Given the description of an element on the screen output the (x, y) to click on. 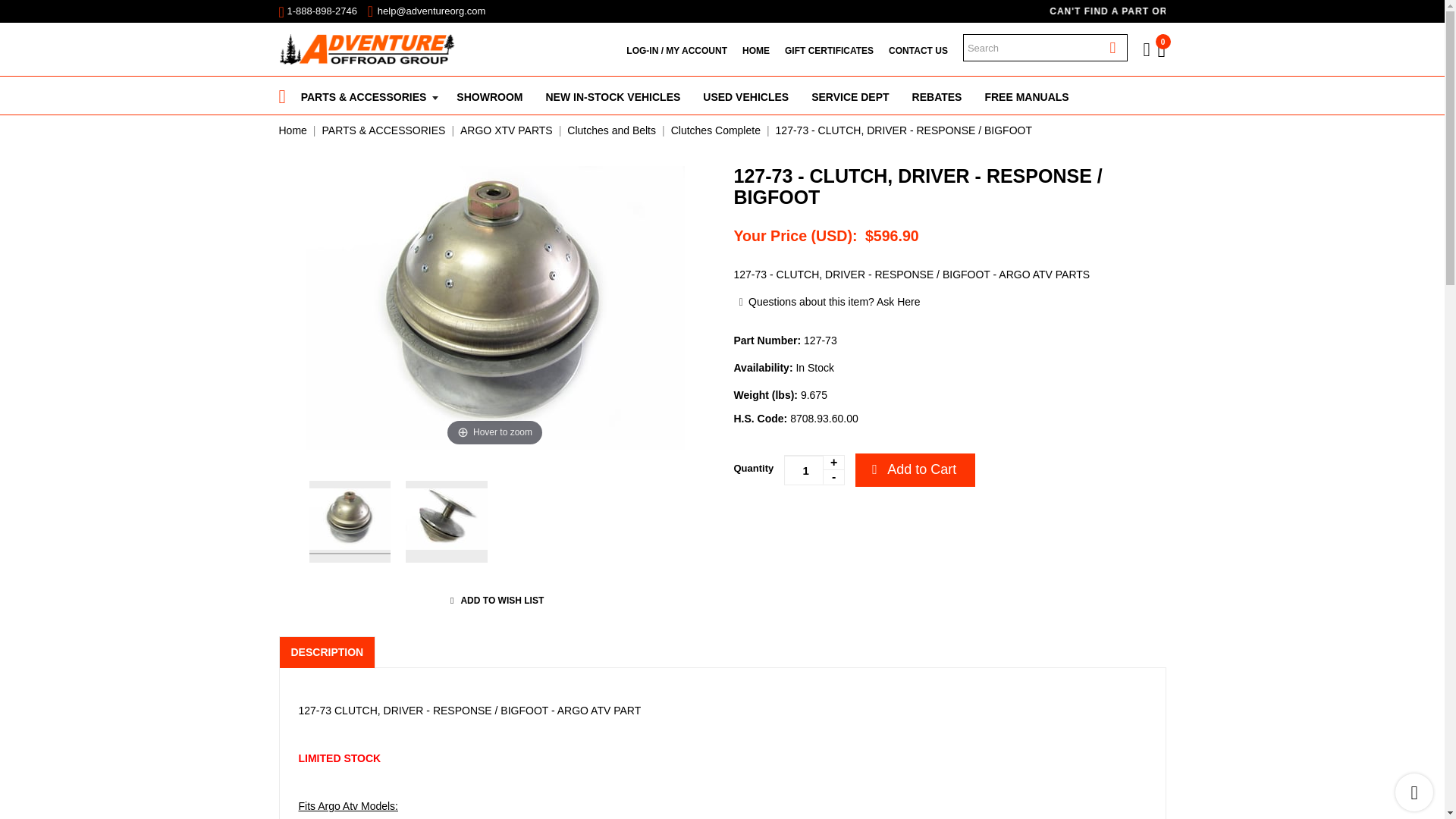
Adventure Offroad Group (367, 48)
GIFT CERTIFICATES (828, 50)
NEW IN-STOCK VEHICLES (612, 95)
home (367, 48)
1 (814, 470)
REBATES (937, 95)
CONTACT US (917, 50)
USED VEHICLES (745, 95)
SHOWROOM (489, 95)
SERVICE DEPT (849, 95)
